Given the description of an element on the screen output the (x, y) to click on. 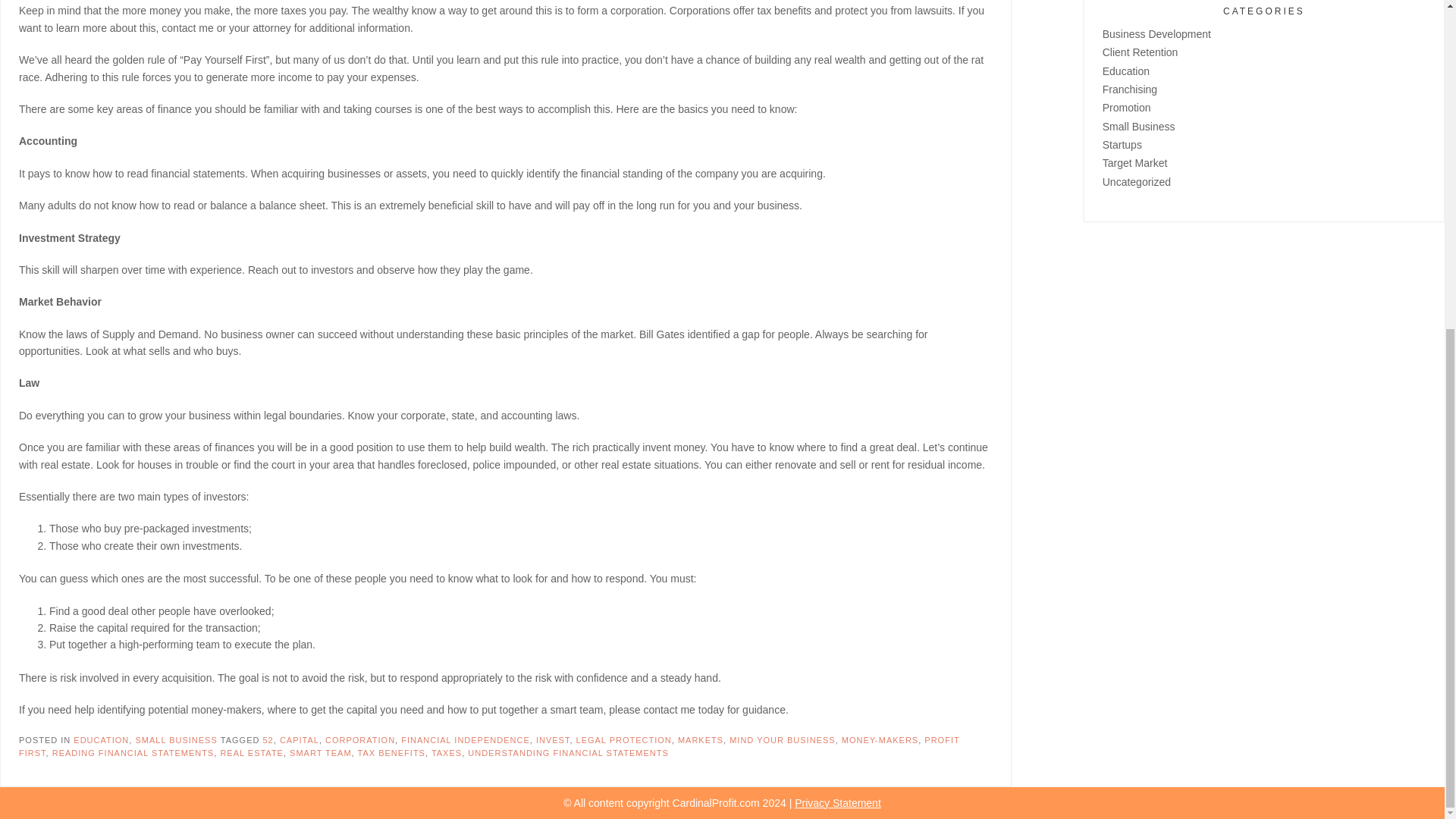
LEGAL PROTECTION (623, 739)
MIND YOUR BUSINESS (781, 739)
SMALL BUSINESS (175, 739)
CORPORATION (359, 739)
MARKETS (700, 739)
FINANCIAL INDEPENDENCE (465, 739)
EDUCATION (101, 739)
SMART TEAM (320, 752)
52 (267, 739)
READING FINANCIAL STATEMENTS (133, 752)
CAPITAL (298, 739)
PROFIT FIRST (488, 746)
MONEY-MAKERS (879, 739)
REAL ESTATE (251, 752)
INVEST (552, 739)
